Given the description of an element on the screen output the (x, y) to click on. 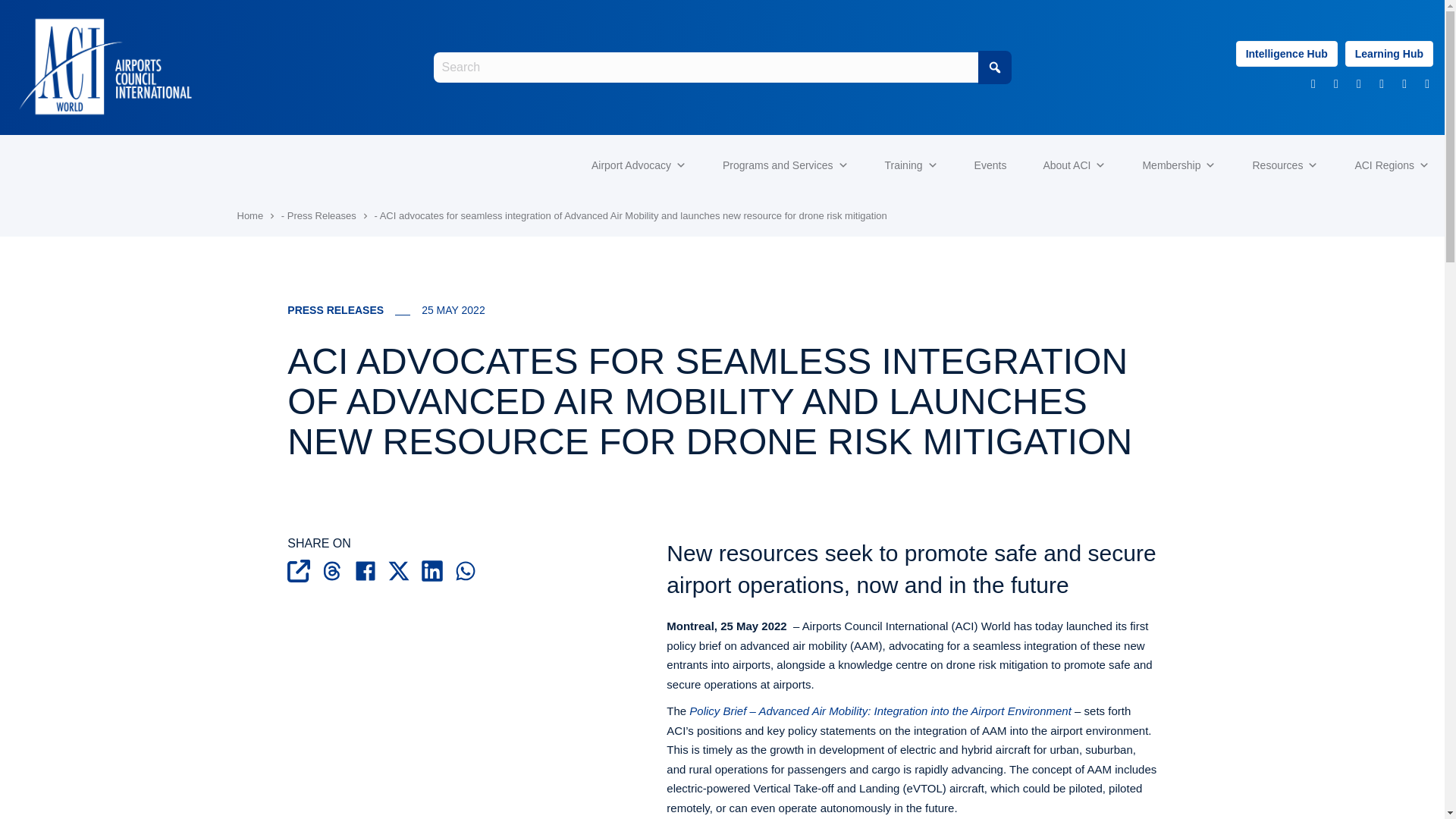
Intelligence Hub (1287, 53)
Airport Advocacy (638, 164)
Learning Hub (1388, 53)
Programs and Services (785, 164)
